Given the description of an element on the screen output the (x, y) to click on. 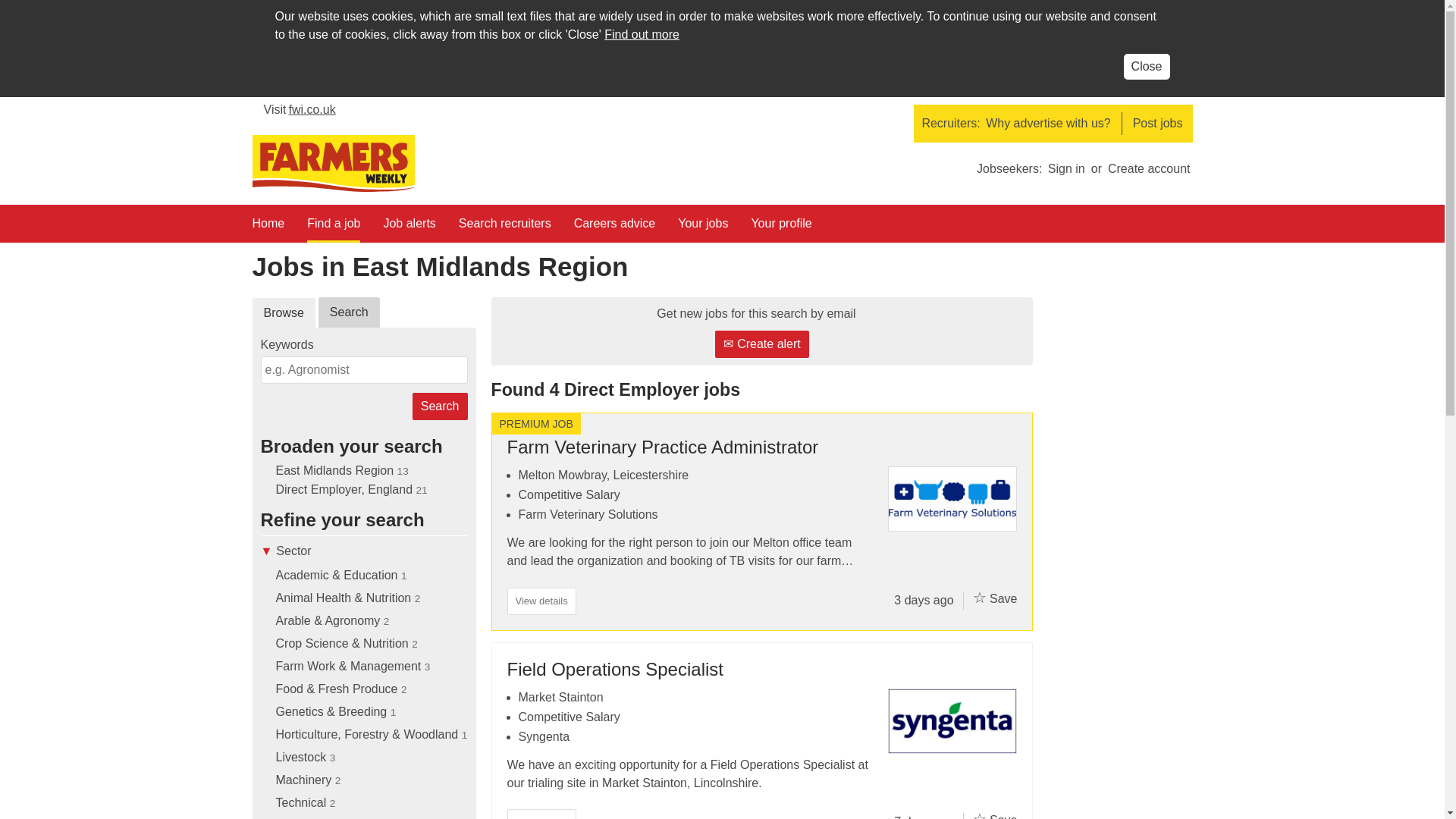
Job alerts (408, 228)
fwi.co.uk (299, 113)
Livestock (301, 757)
Post jobs (1158, 123)
Create account (1148, 169)
Your jobs (703, 228)
Machinery (303, 779)
Search (439, 406)
Add to shortlist (979, 597)
Search (349, 312)
Search recruiters (504, 228)
Careers advice (614, 228)
Your profile (780, 228)
Search (439, 406)
Sign in (1066, 169)
